Given the description of an element on the screen output the (x, y) to click on. 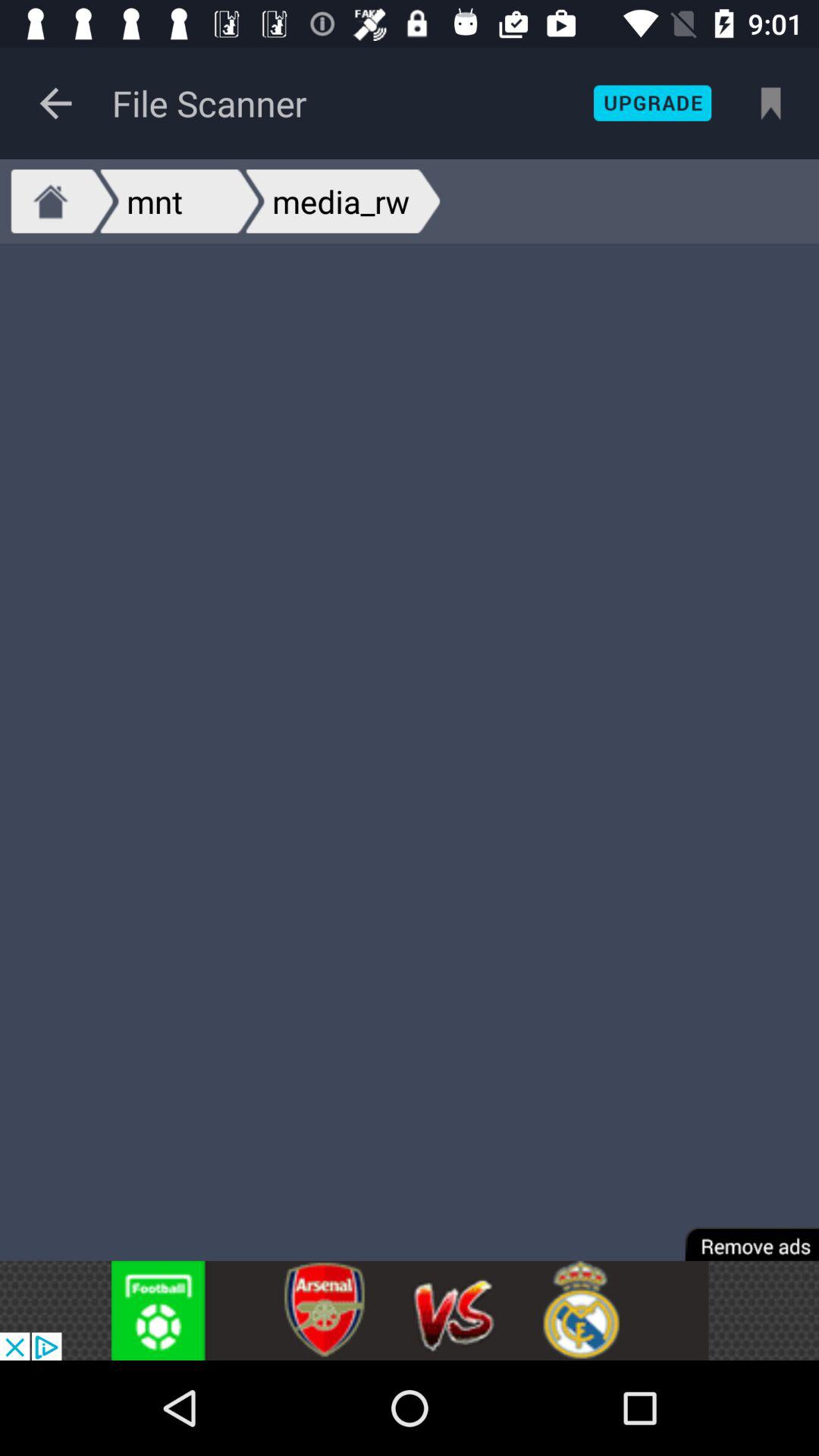
go to advertisement (409, 1310)
